Given the description of an element on the screen output the (x, y) to click on. 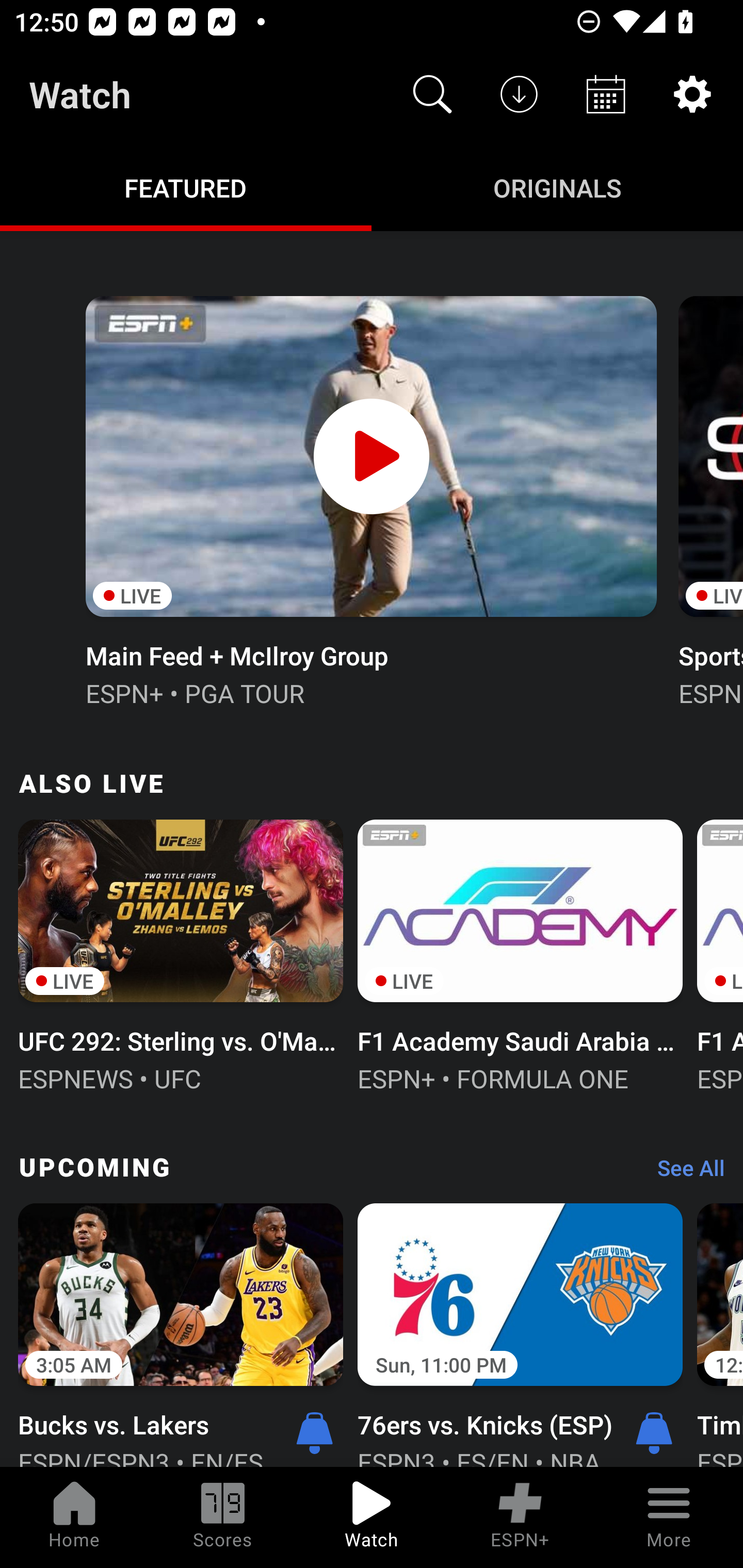
Search (432, 93)
Downloads (518, 93)
Schedule (605, 93)
Settings (692, 93)
Originals ORIGINALS (557, 187)
 LIVE Main Feed + McIlroy Group ESPN+ • PGA TOUR (370, 499)
LIVE UFC 292: Sterling vs. O'Malley ESPNEWS • UFC (180, 954)
See All (683, 1172)
Home (74, 1517)
Scores (222, 1517)
ESPN+ (519, 1517)
More (668, 1517)
